Given the description of an element on the screen output the (x, y) to click on. 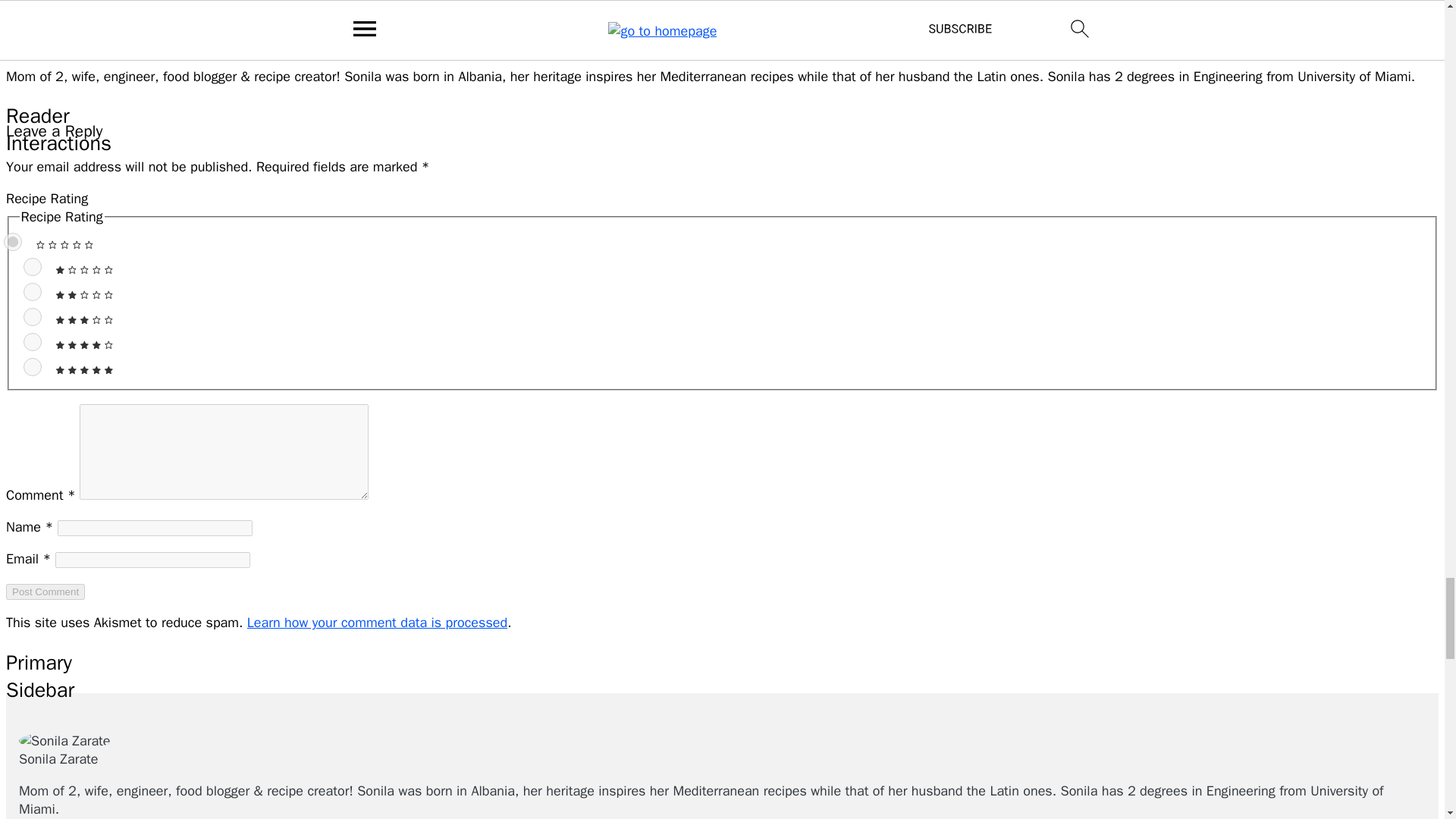
4 (31, 341)
0 (11, 241)
Post Comment (44, 591)
2 (31, 291)
1 (31, 266)
3 (31, 316)
5 (31, 366)
